Given the description of an element on the screen output the (x, y) to click on. 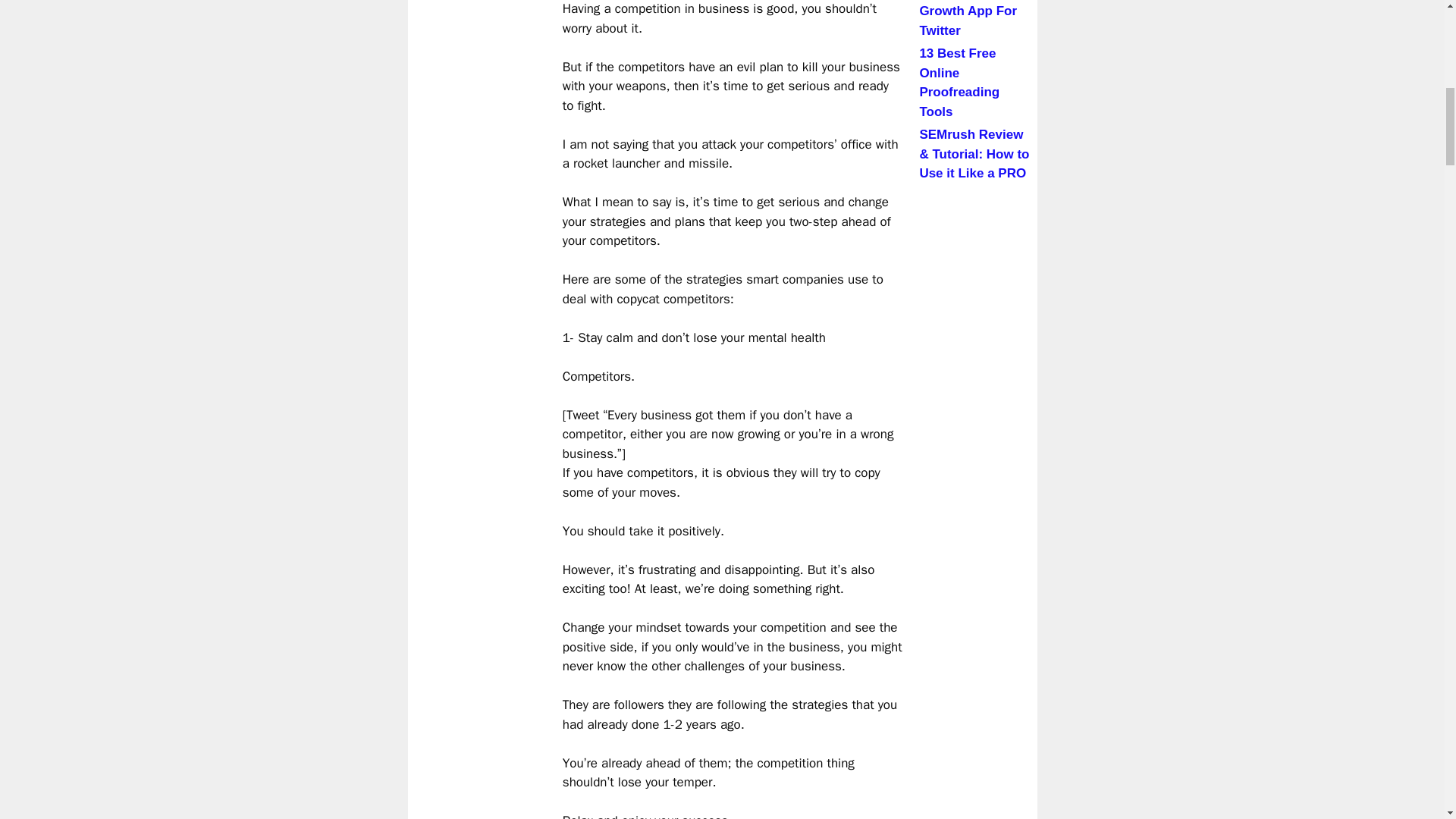
Scroll back to top (1406, 720)
13 Best Free Online Proofreading Tools (958, 81)
13 Best Free Online Proofreading Tools (975, 82)
